Given the description of an element on the screen output the (x, y) to click on. 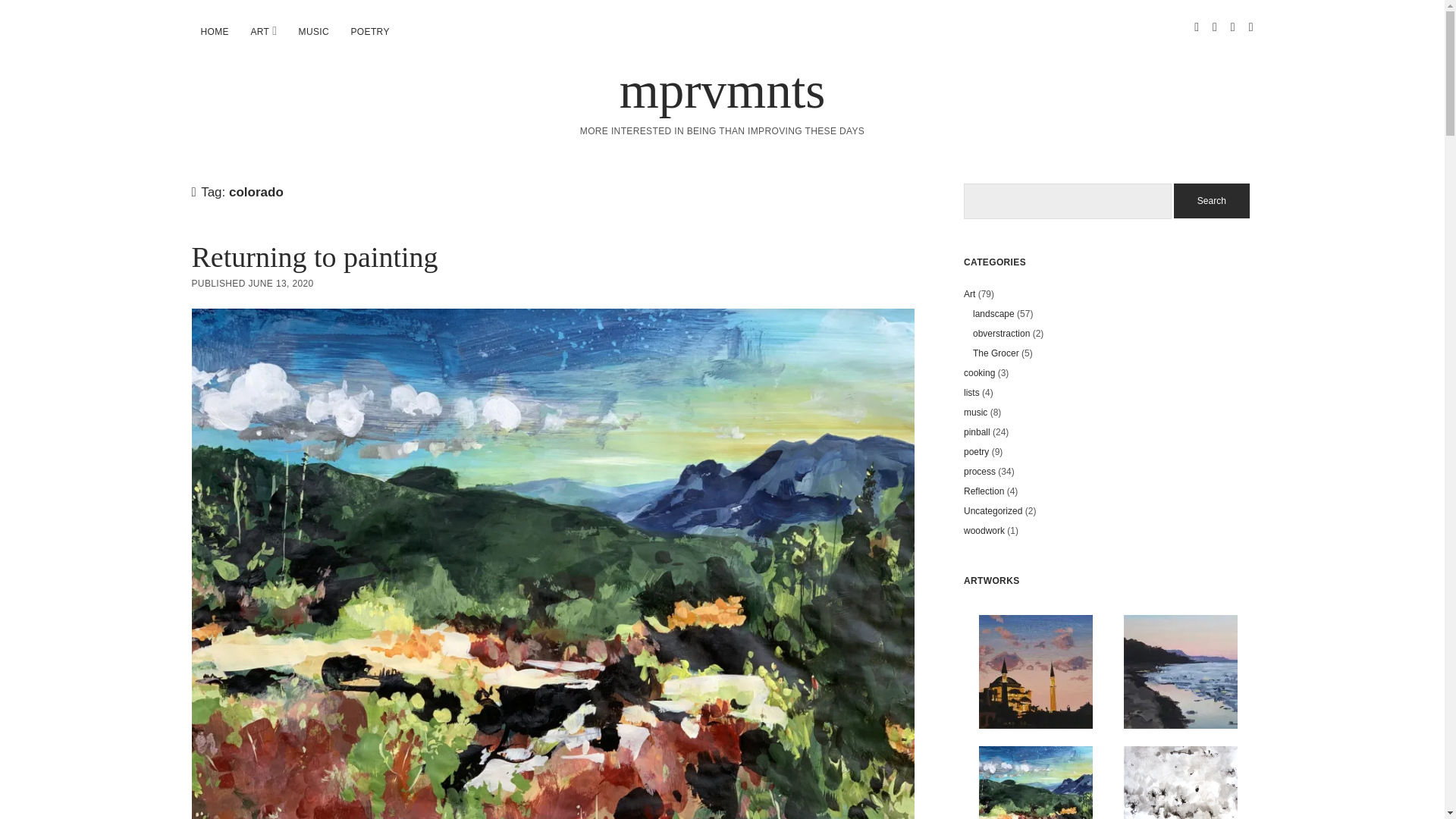
goodreads (1251, 27)
twitter (1195, 26)
POETRY (368, 31)
cooking (978, 372)
bandcamp (1232, 26)
HOME (213, 31)
Returning to painting (314, 256)
goodreads (1251, 26)
Art (969, 294)
open menu (274, 30)
Search for: (1067, 201)
music (975, 412)
poetry (975, 451)
Search (1211, 200)
twitter (1195, 27)
